Given the description of an element on the screen output the (x, y) to click on. 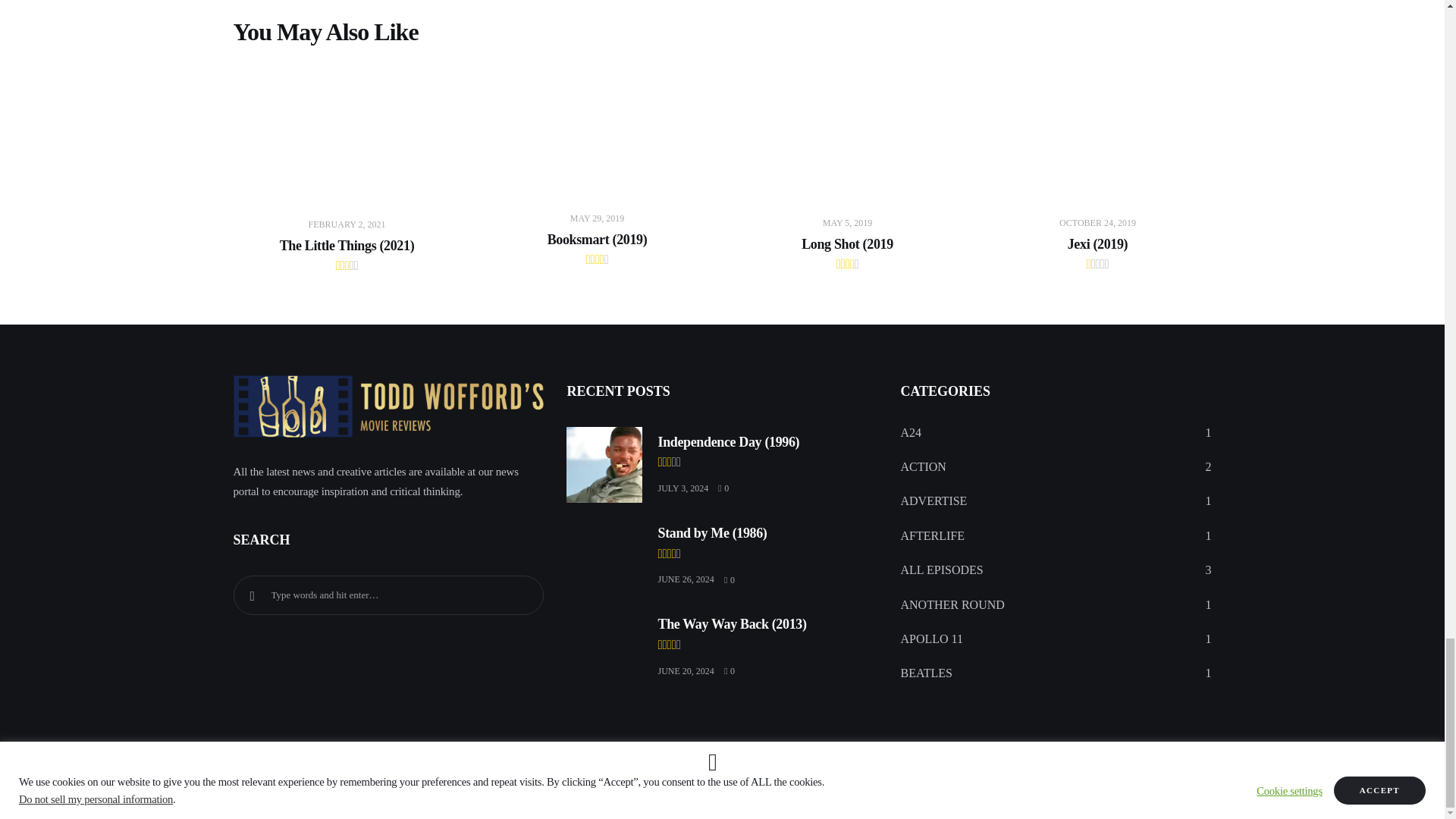
Search (251, 595)
Search (251, 595)
